Given the description of an element on the screen output the (x, y) to click on. 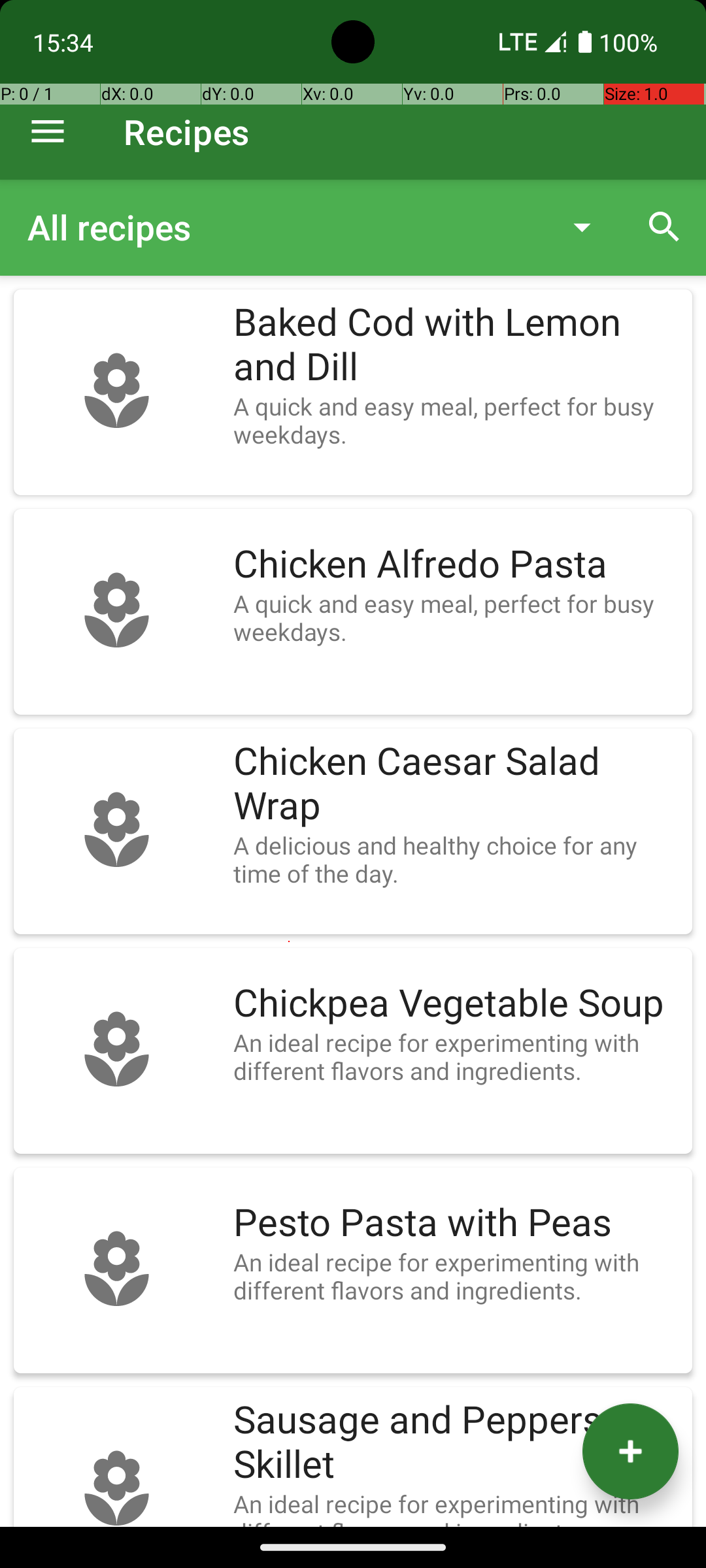
Sausage and Peppers Skillet Element type: android.widget.TextView (455, 1442)
